Given the description of an element on the screen output the (x, y) to click on. 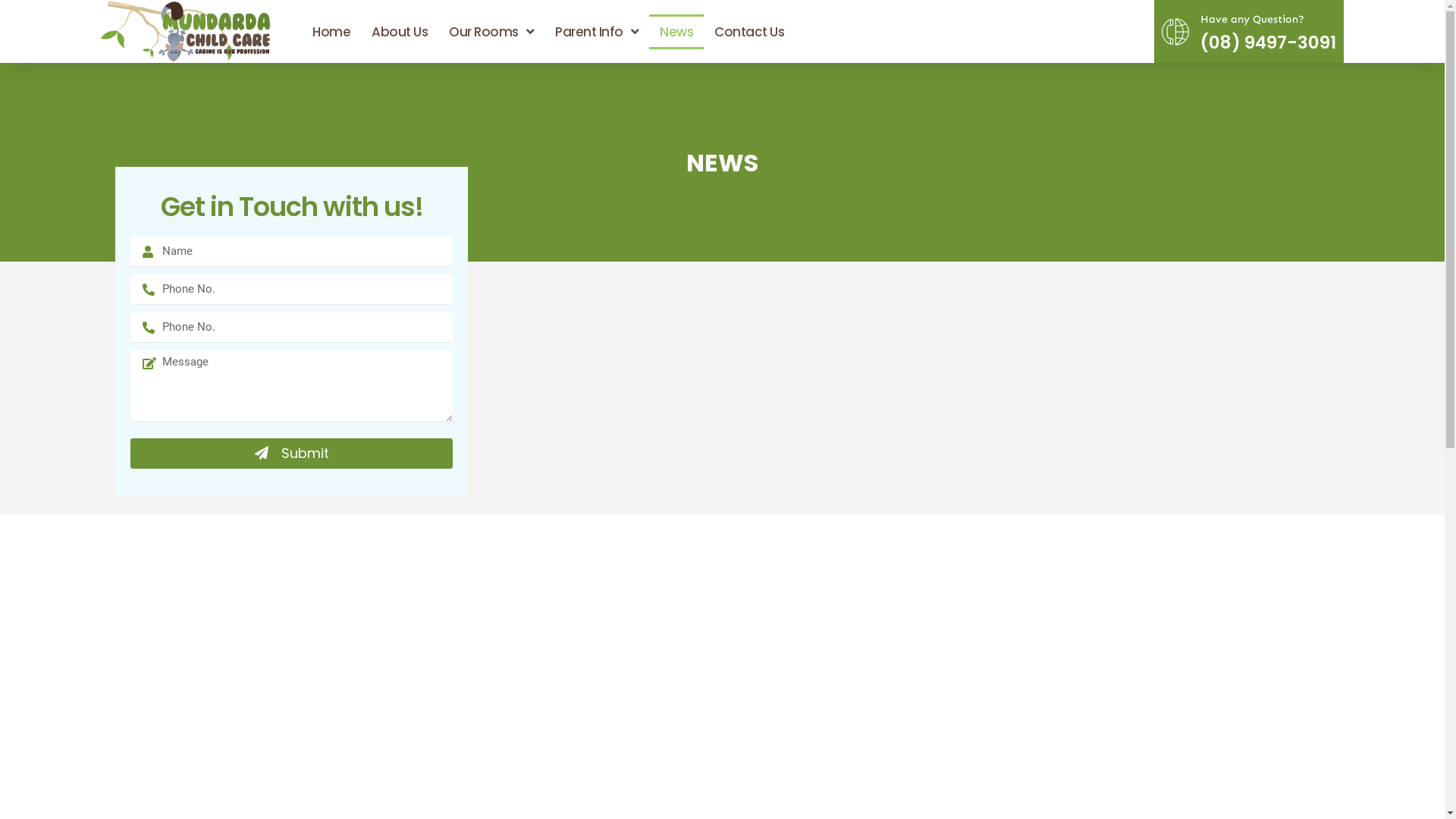
Contact Us Element type: text (748, 31)
Our Rooms Element type: text (491, 31)
About Us Element type: text (399, 31)
Home Element type: text (330, 31)
Parent Info Element type: text (596, 31)
Submit Element type: text (291, 453)
News Element type: text (676, 31)
